Given the description of an element on the screen output the (x, y) to click on. 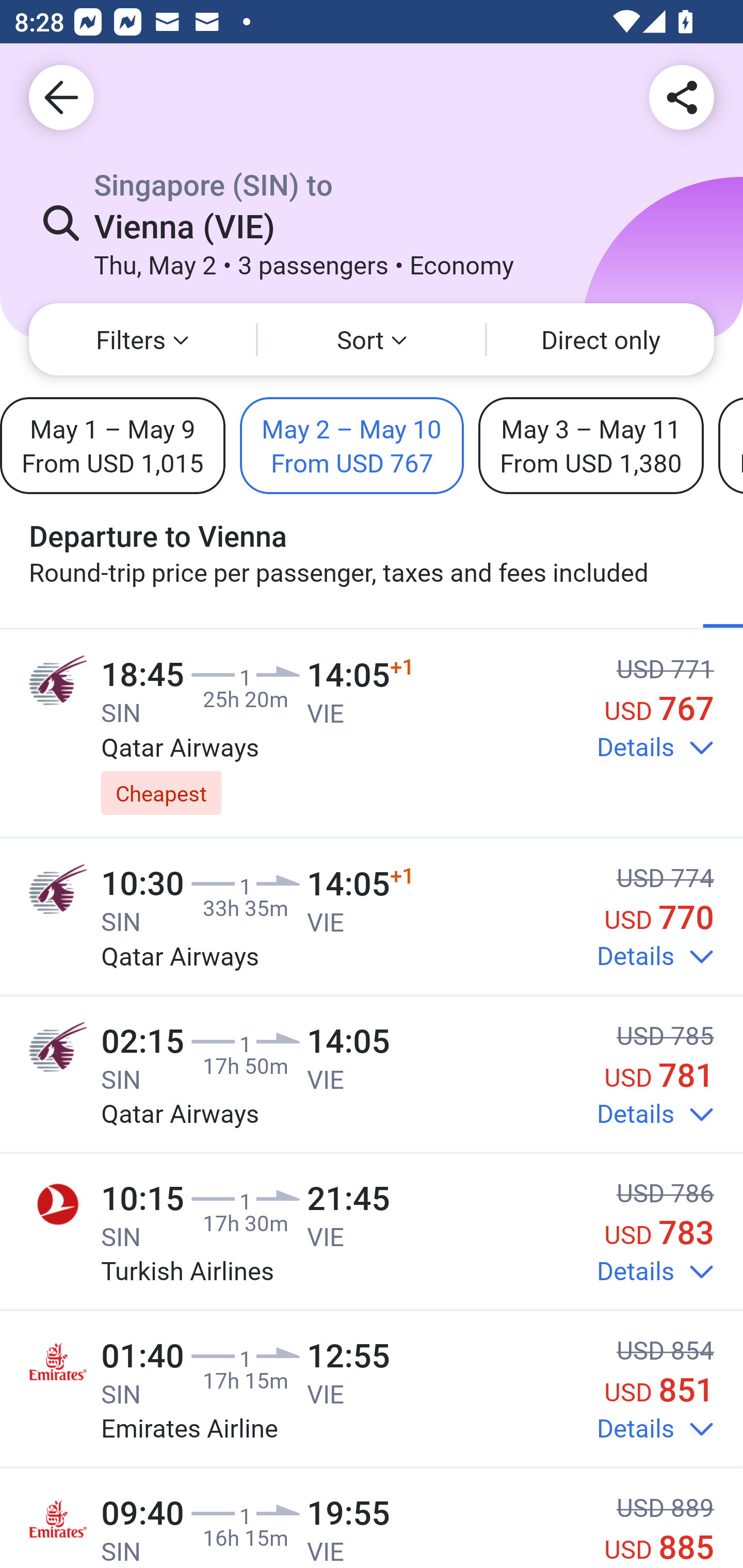
Filters (141, 339)
Sort (371, 339)
Direct only (600, 339)
May 1 – May 9 From USD 1,015 (112, 444)
May 2 – May 10 From USD 767 (351, 444)
May 3 – May 11 From USD 1,380 (590, 444)
